Given the description of an element on the screen output the (x, y) to click on. 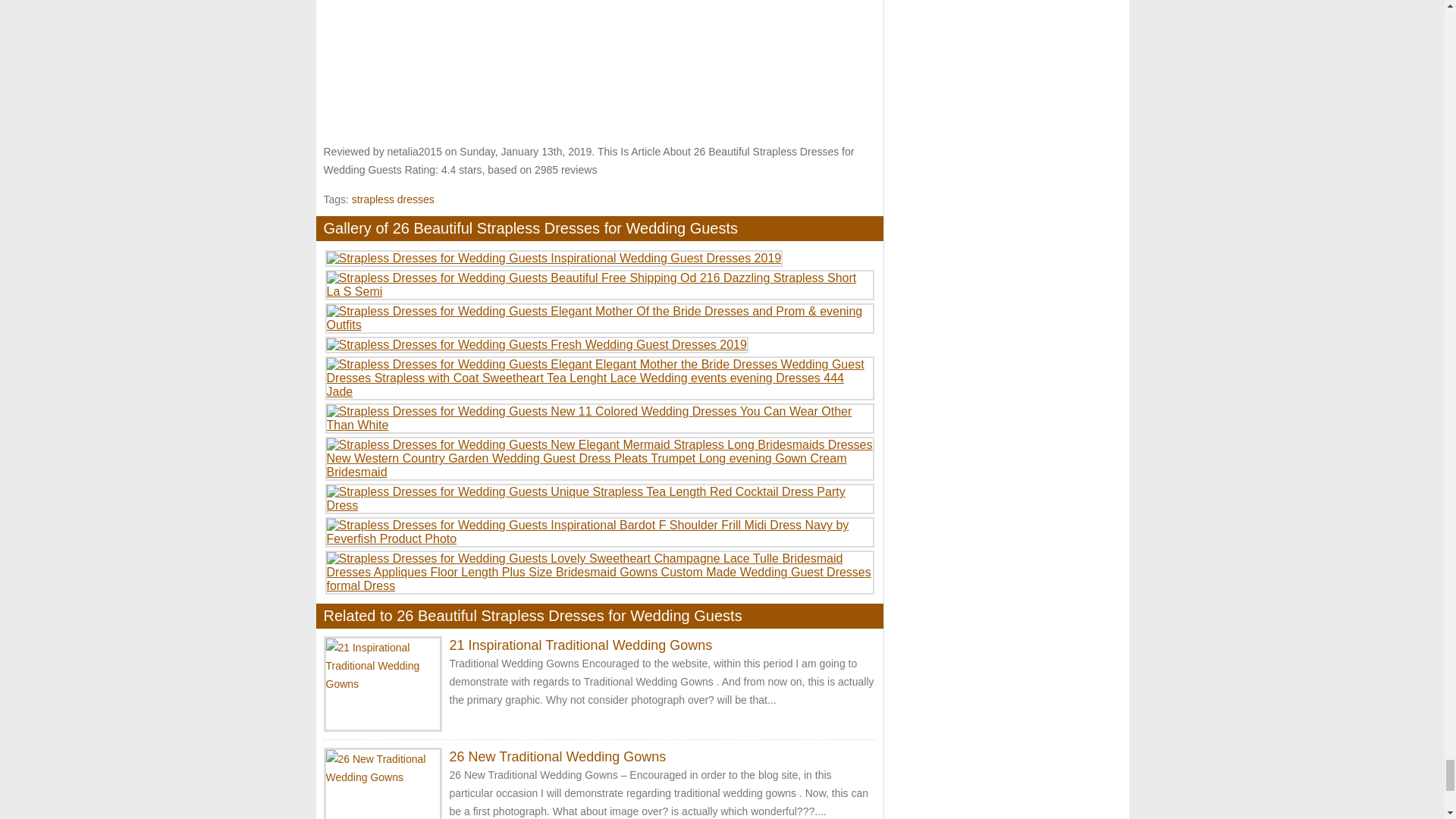
26 New Traditional Wedding Gowns (556, 756)
strapless dresses (392, 199)
21 Inspirational Traditional Wedding Gowns (579, 645)
